Given the description of an element on the screen output the (x, y) to click on. 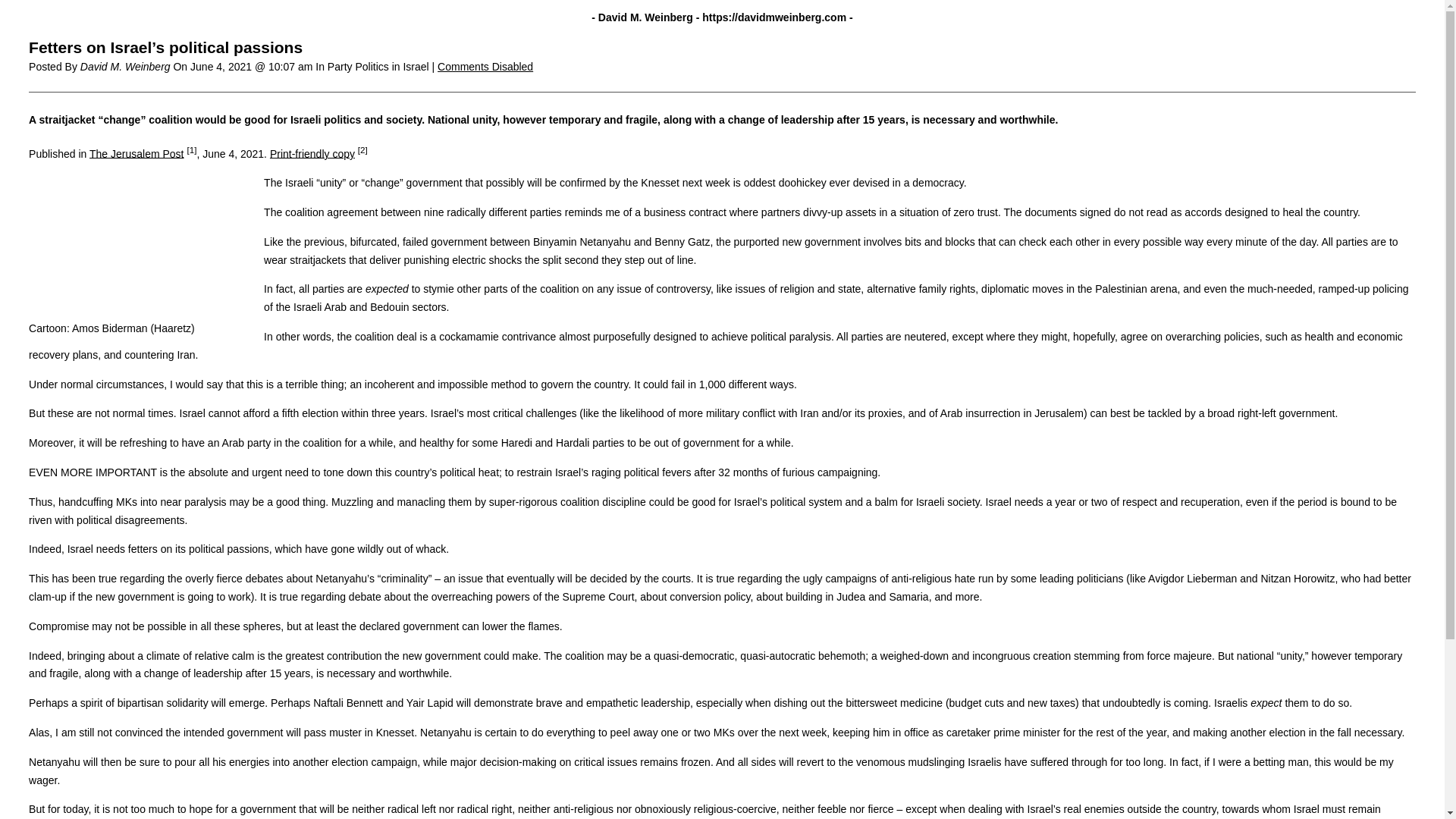
The Jerusalem Post (136, 152)
Comments Disabled (485, 66)
Print-friendly copy (312, 152)
